Given the description of an element on the screen output the (x, y) to click on. 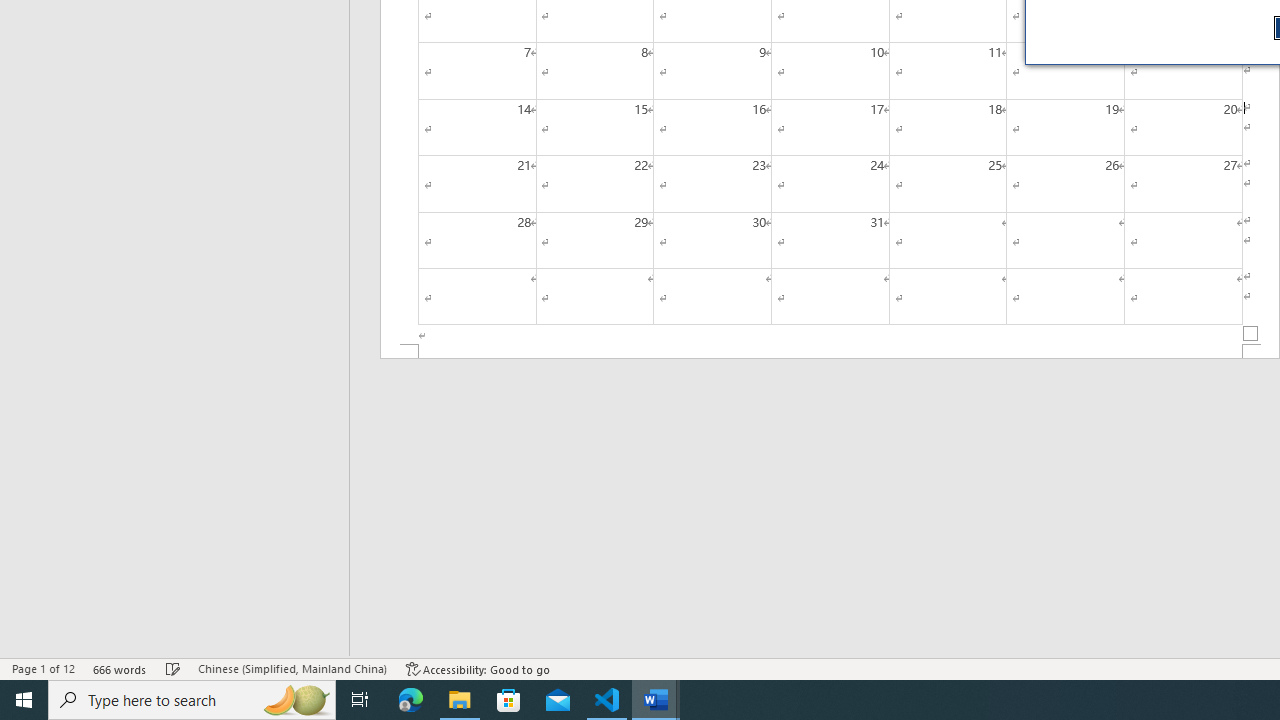
Start (24, 699)
Task View (359, 699)
Type here to search (191, 699)
Visual Studio Code - 1 running window (607, 699)
Microsoft Store (509, 699)
Microsoft Edge (411, 699)
Language Chinese (Simplified, Mainland China) (292, 668)
File Explorer - 1 running window (460, 699)
Page Number Page 1 of 12 (43, 668)
Word Count 666 words (119, 668)
Search highlights icon opens search home window (295, 699)
Footer -Section 1- (830, 351)
Spelling and Grammar Check Checking (173, 668)
